Given the description of an element on the screen output the (x, y) to click on. 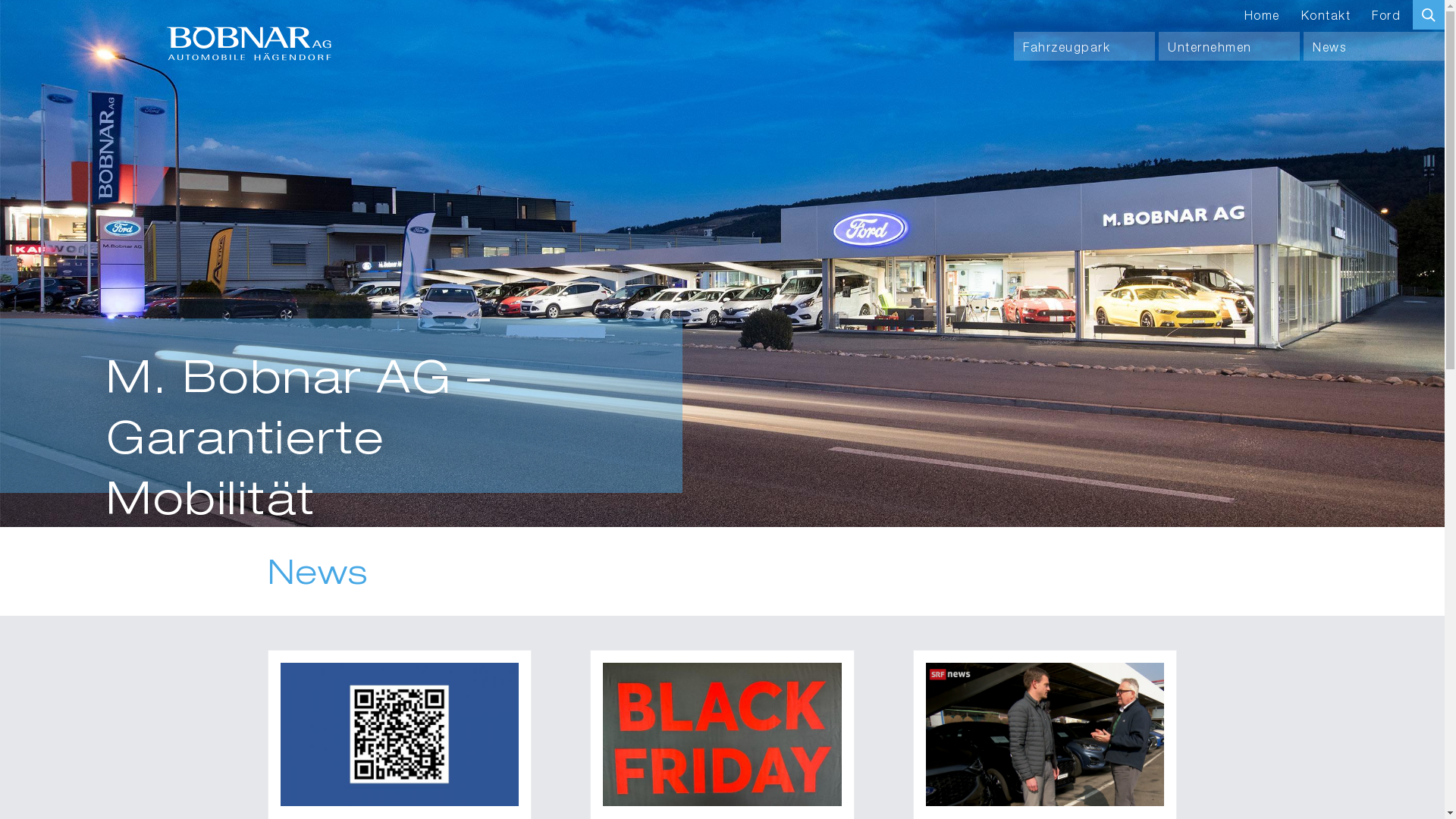
Kontakt Element type: text (1326, 14)
Ford Element type: text (1385, 14)
Vorschaubild Element type: text (1044, 734)
News Element type: text (1373, 45)
Vorschaubild Element type: text (399, 734)
Home Element type: text (1261, 14)
Vorschaubild Element type: text (721, 734)
Unternehmen Element type: text (1228, 45)
Fahrzeugpark Element type: text (1083, 45)
